Given the description of an element on the screen output the (x, y) to click on. 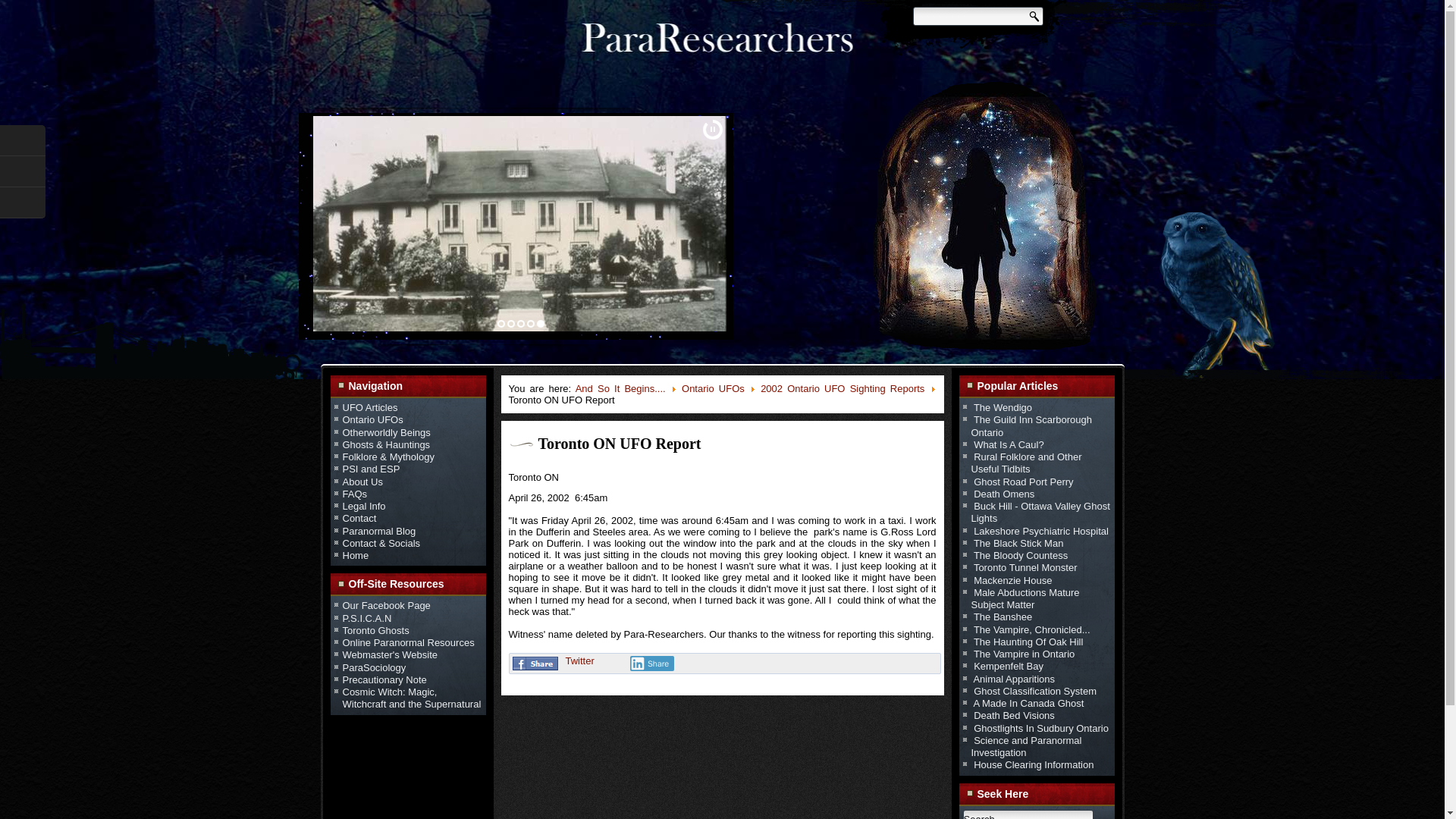
Cosmic Witch: Magic, Witchcraft and the Supernatural (411, 698)
About Us (362, 481)
Share (651, 663)
Otherworldly Beings (386, 431)
P.S.I.C.A.N (366, 618)
FAQs (355, 493)
Ontario UFOs (372, 419)
Contact (359, 518)
Our Facebook Page (386, 604)
ParaSociology (374, 666)
Home (355, 555)
Webmaster's Website (390, 654)
Toronto ON UFO Report (619, 443)
Toronto Ghosts (375, 630)
Twitter (580, 660)
